Given the description of an element on the screen output the (x, y) to click on. 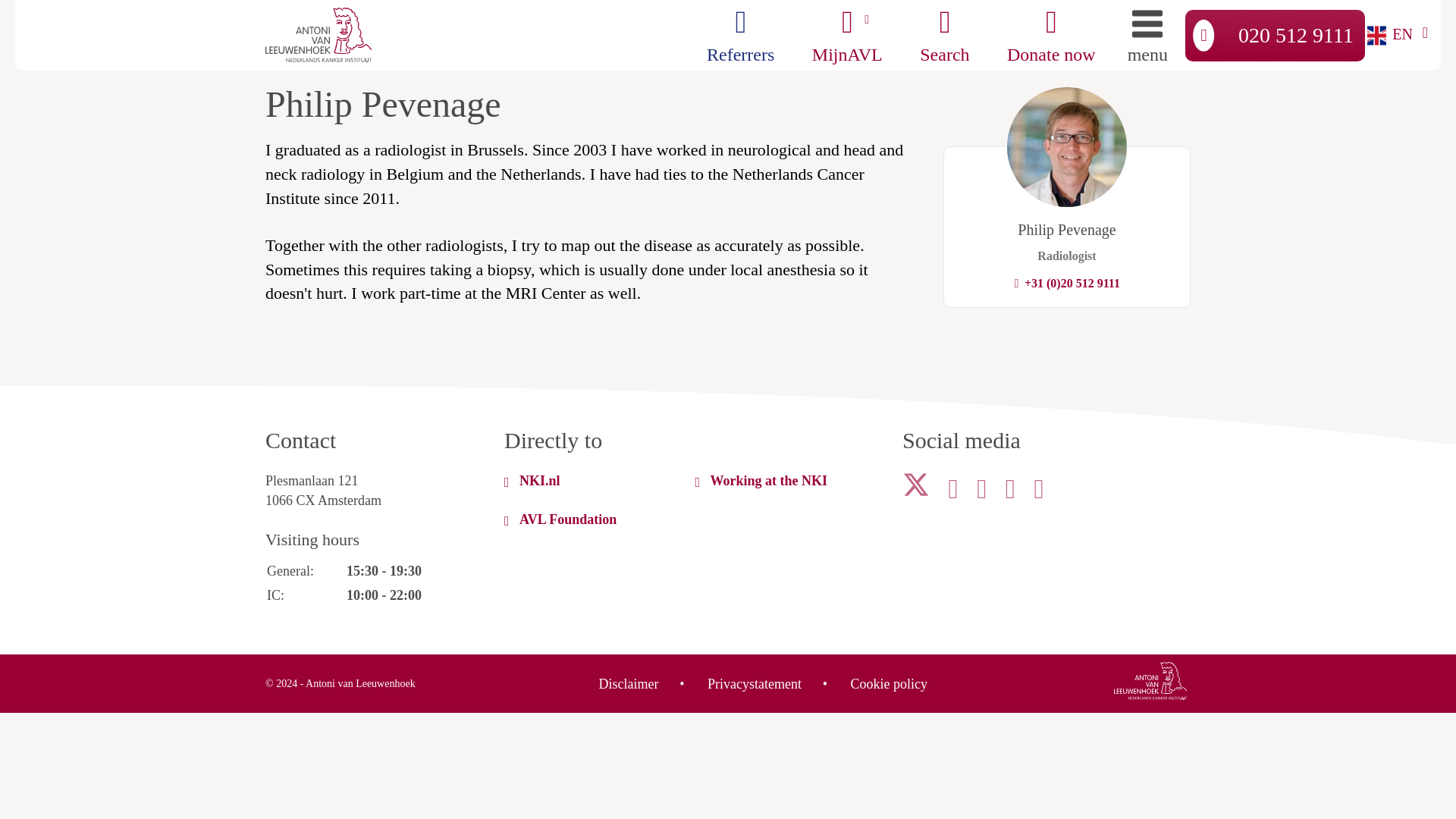
Donate now (1051, 21)
Ga naar de homepage (1150, 683)
MijnAVL (847, 21)
EN (1397, 35)
Donate now (1051, 35)
Go to homepage (317, 35)
Search (944, 21)
MijnAVL (847, 35)
020 512 9111 (1275, 34)
Referrers (740, 35)
